Given the description of an element on the screen output the (x, y) to click on. 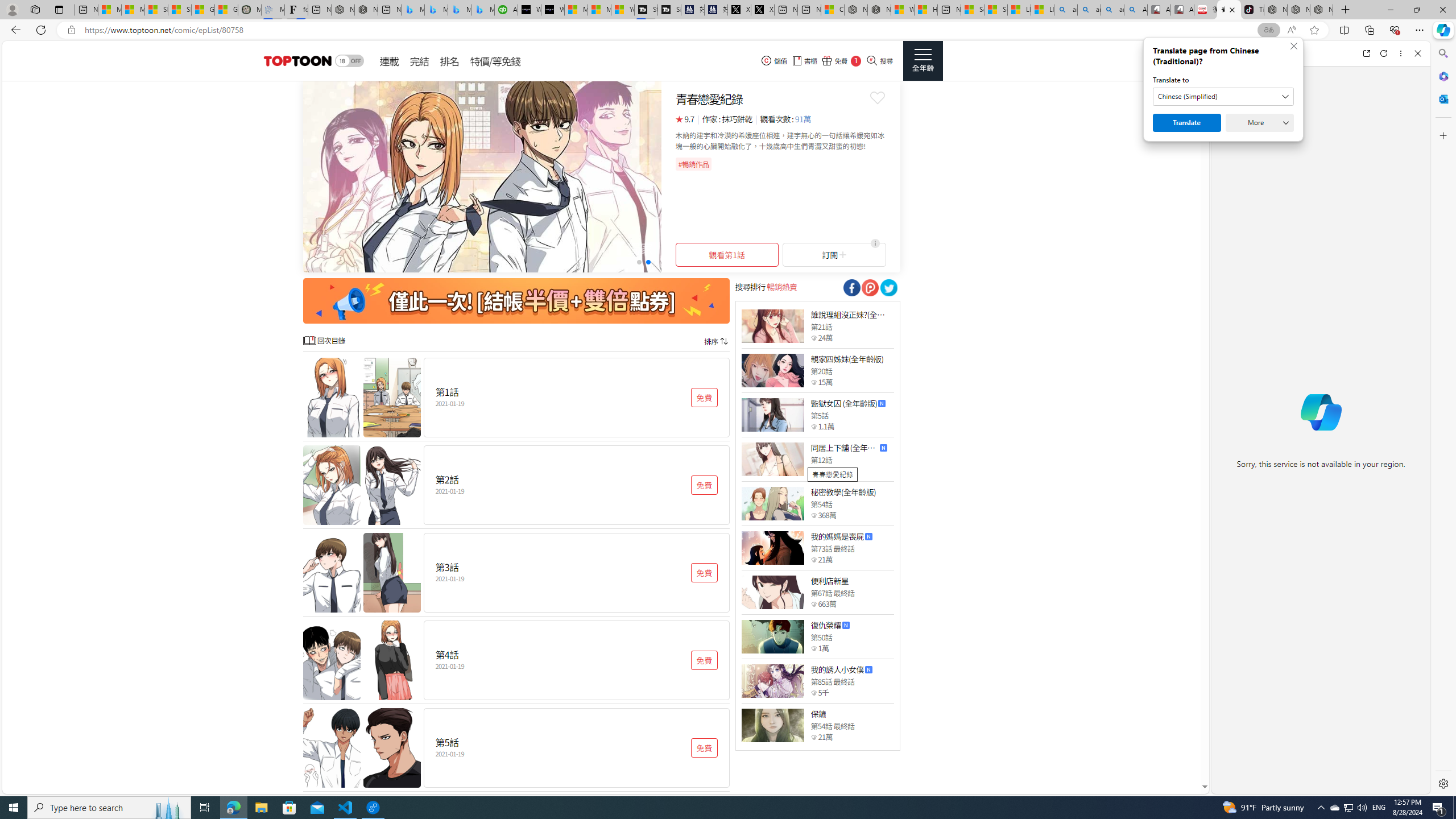
Microsoft Bing Travel - Stays in Bangkok, Bangkok, Thailand (435, 9)
Go to slide 1 (639, 261)
Microsoft Bing Travel - Shangri-La Hotel Bangkok (482, 9)
Compose (1280, 52)
